Given the description of an element on the screen output the (x, y) to click on. 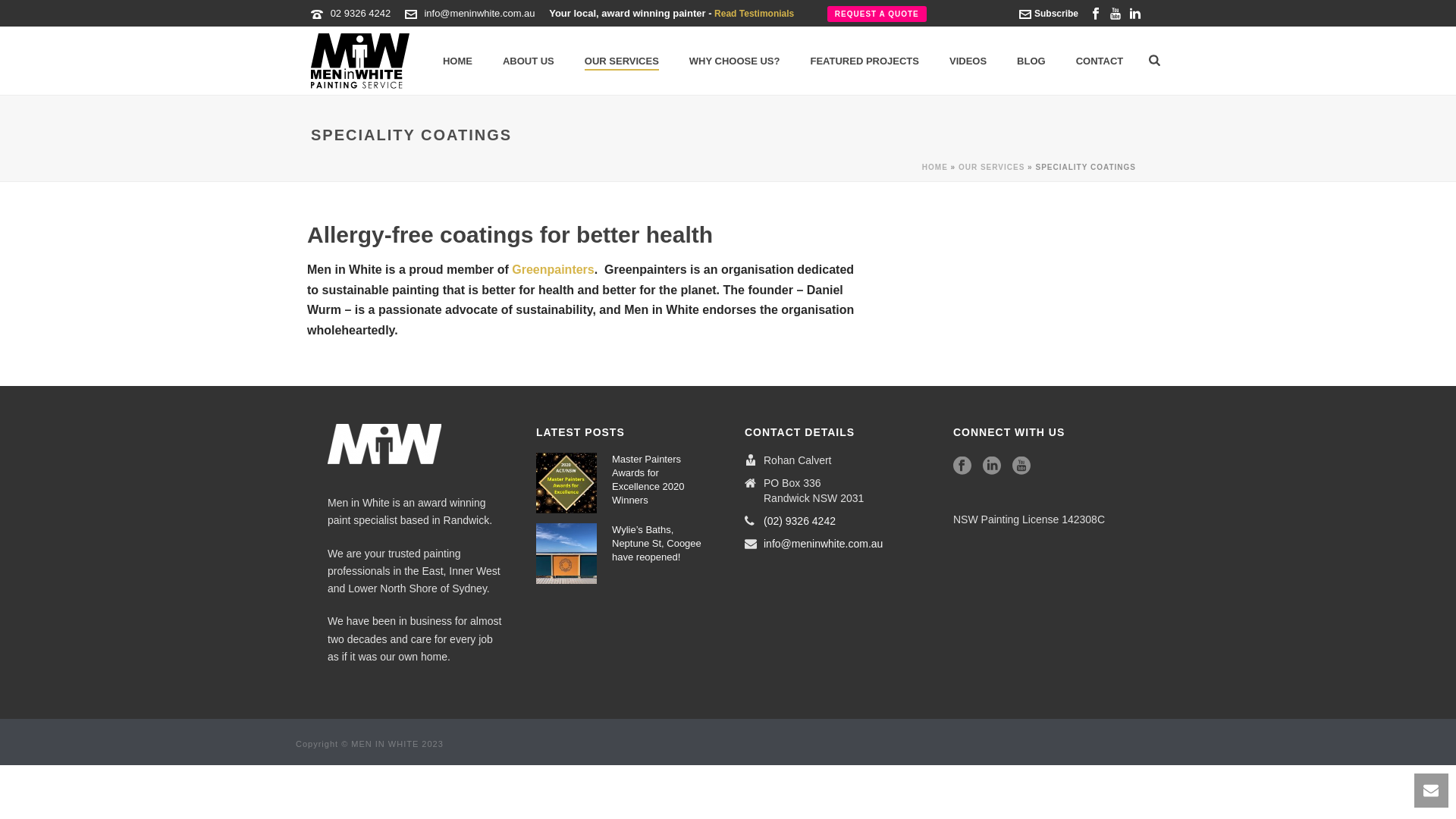
(02) 9326 4242 Element type: text (799, 520)
02 9326 4242 Element type: text (360, 12)
Master Painters Awards for Excellence 2020 Winners Element type: text (657, 479)
info@meninwhite.com.au Element type: text (478, 12)
WHY CHOOSE US? Element type: text (734, 61)
Master Painters Awards for Excellence 2020 Winners Element type: hover (566, 482)
Your local, award winning, Sydney painter Element type: hover (359, 60)
CONTACT Element type: text (1099, 61)
OUR SERVICES Element type: text (991, 167)
Subscribe Element type: text (1048, 13)
Read Testimonials Element type: text (753, 13)
Follow Us on facebook Element type: hover (962, 466)
HOME Element type: text (934, 167)
HOME Element type: text (457, 61)
Follow Us on youtube Element type: hover (1021, 466)
Greenpainters Element type: text (552, 269)
info@meninwhite.com.au Element type: text (822, 543)
Follow Us on linkedin Element type: hover (991, 466)
BLOG Element type: text (1030, 61)
ABOUT US Element type: text (528, 61)
OUR SERVICES Element type: text (621, 61)
REQUEST A QUOTE Element type: text (876, 13)
VIDEOS Element type: text (967, 61)
FEATURED PROJECTS Element type: text (864, 61)
